Given the description of an element on the screen output the (x, y) to click on. 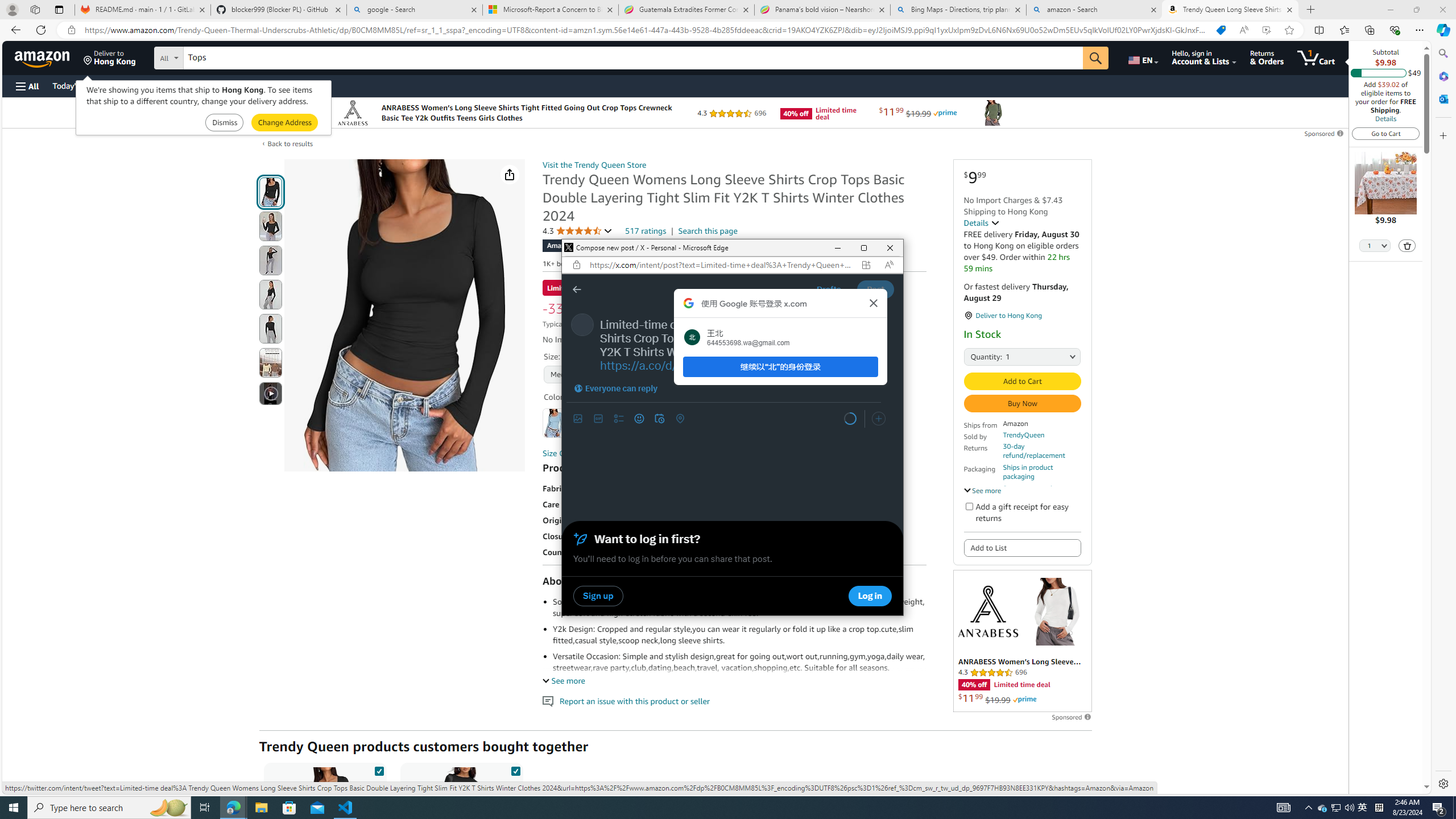
Enhance video (1266, 29)
Hello, sign in Account & Lists (1203, 57)
Drafts (828, 289)
Add to List (1021, 547)
517 ratings (645, 230)
Add emoji (1322, 807)
Search in (638, 418)
